Given the description of an element on the screen output the (x, y) to click on. 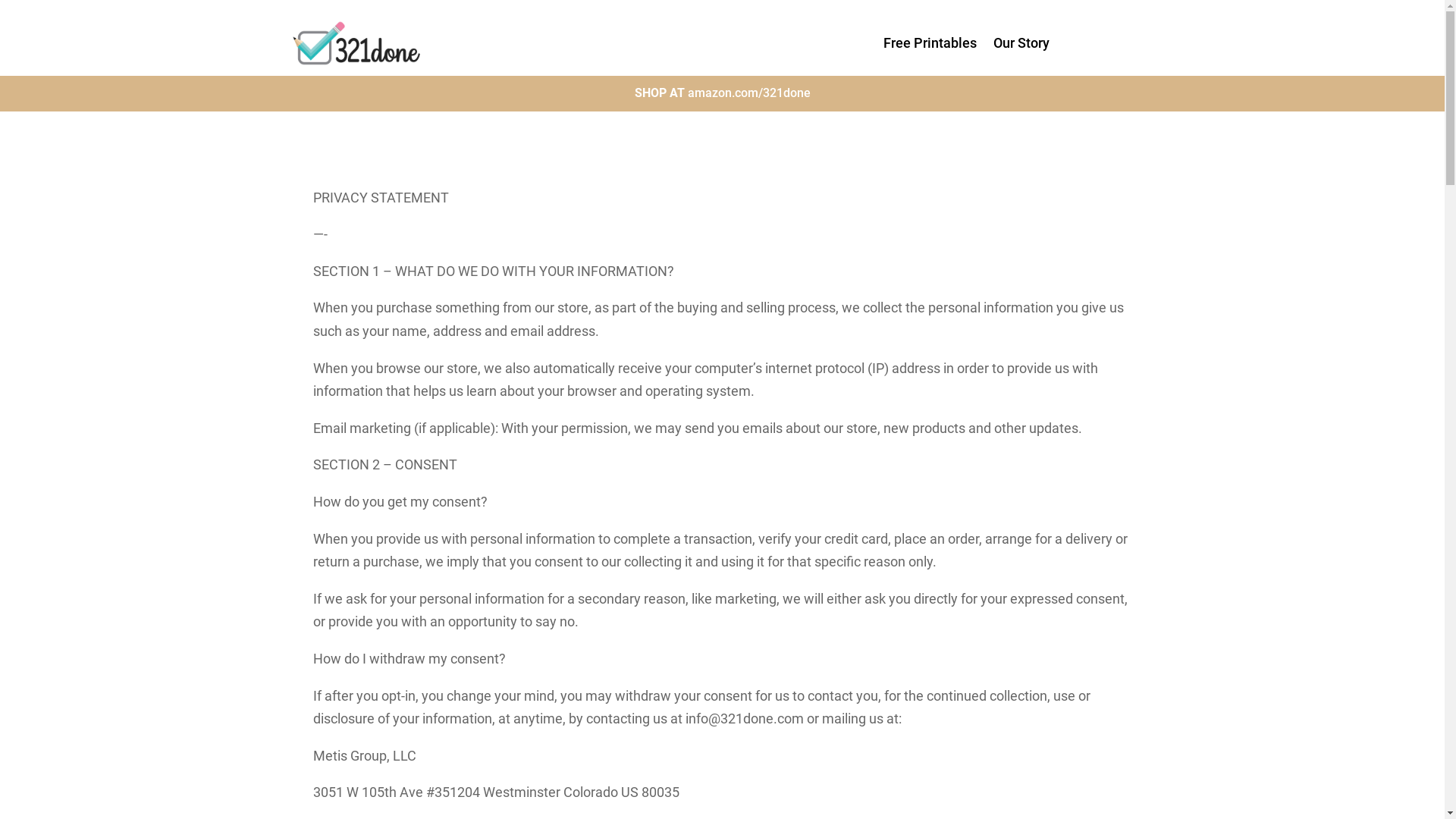
Print Element type: hover (356, 42)
Free Printables Element type: text (929, 45)
Our Story Element type: text (1021, 45)
